Given the description of an element on the screen output the (x, y) to click on. 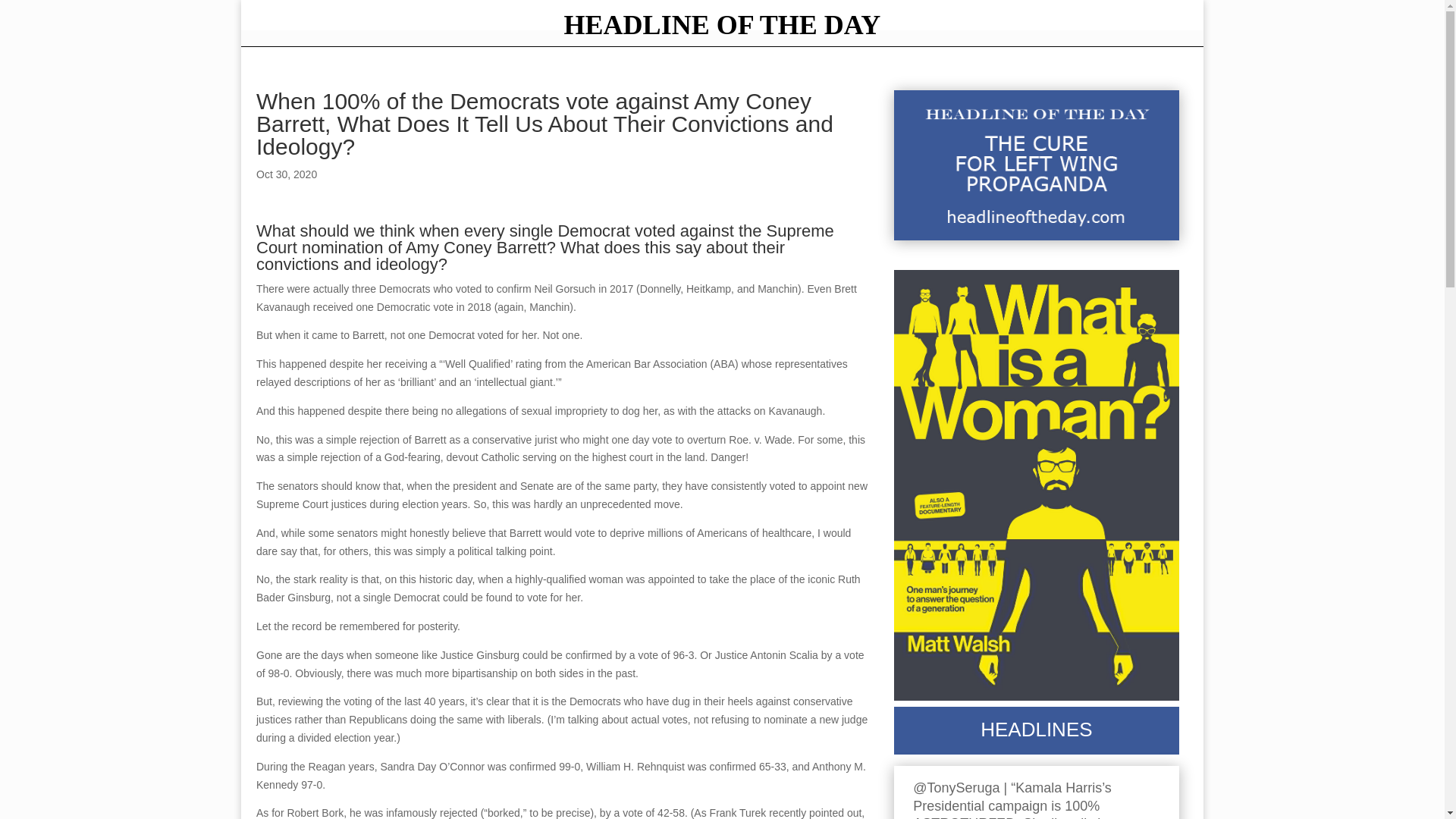
Home Page (721, 28)
